Given the description of an element on the screen output the (x, y) to click on. 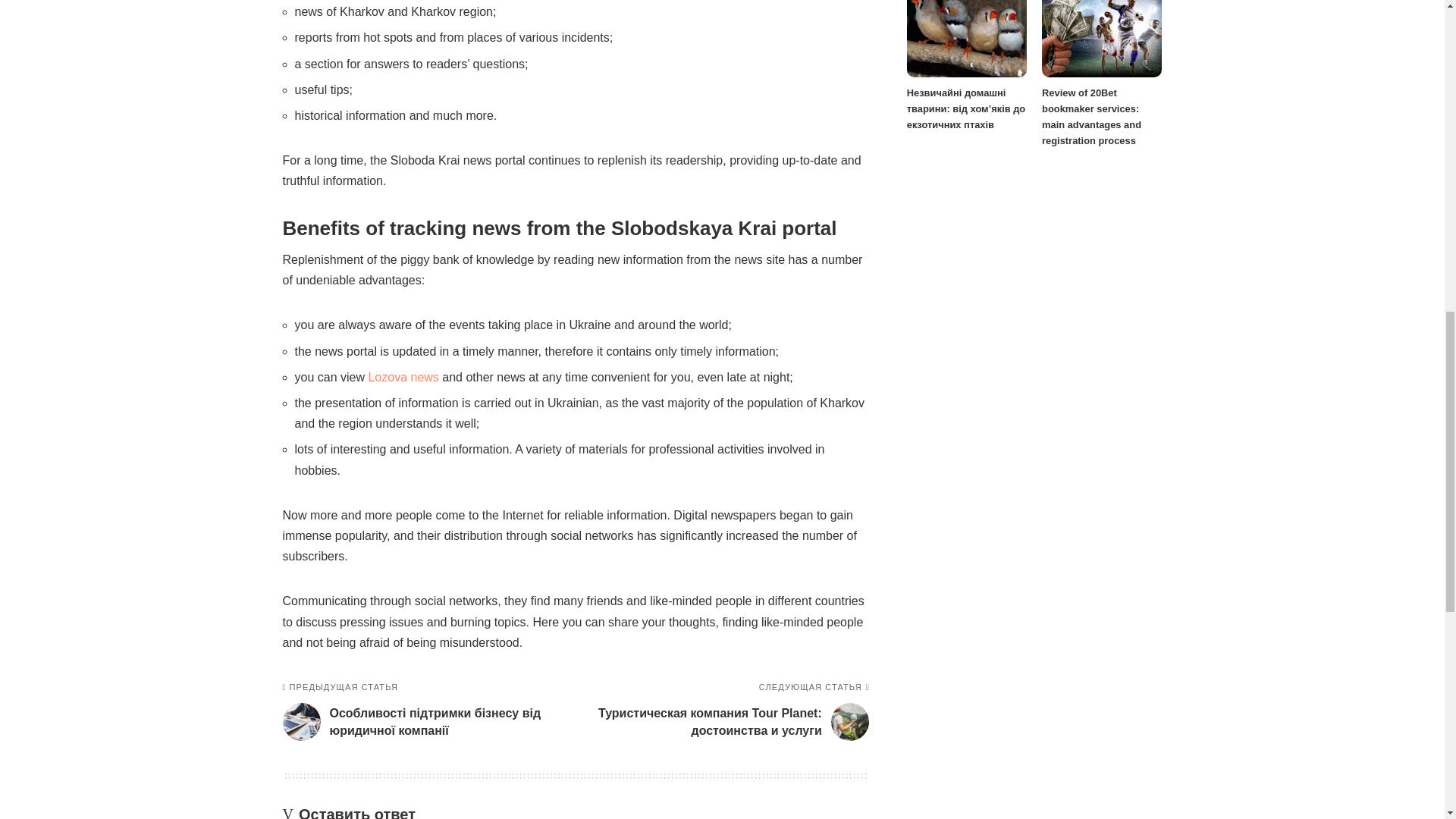
Lozova news (403, 377)
